Given the description of an element on the screen output the (x, y) to click on. 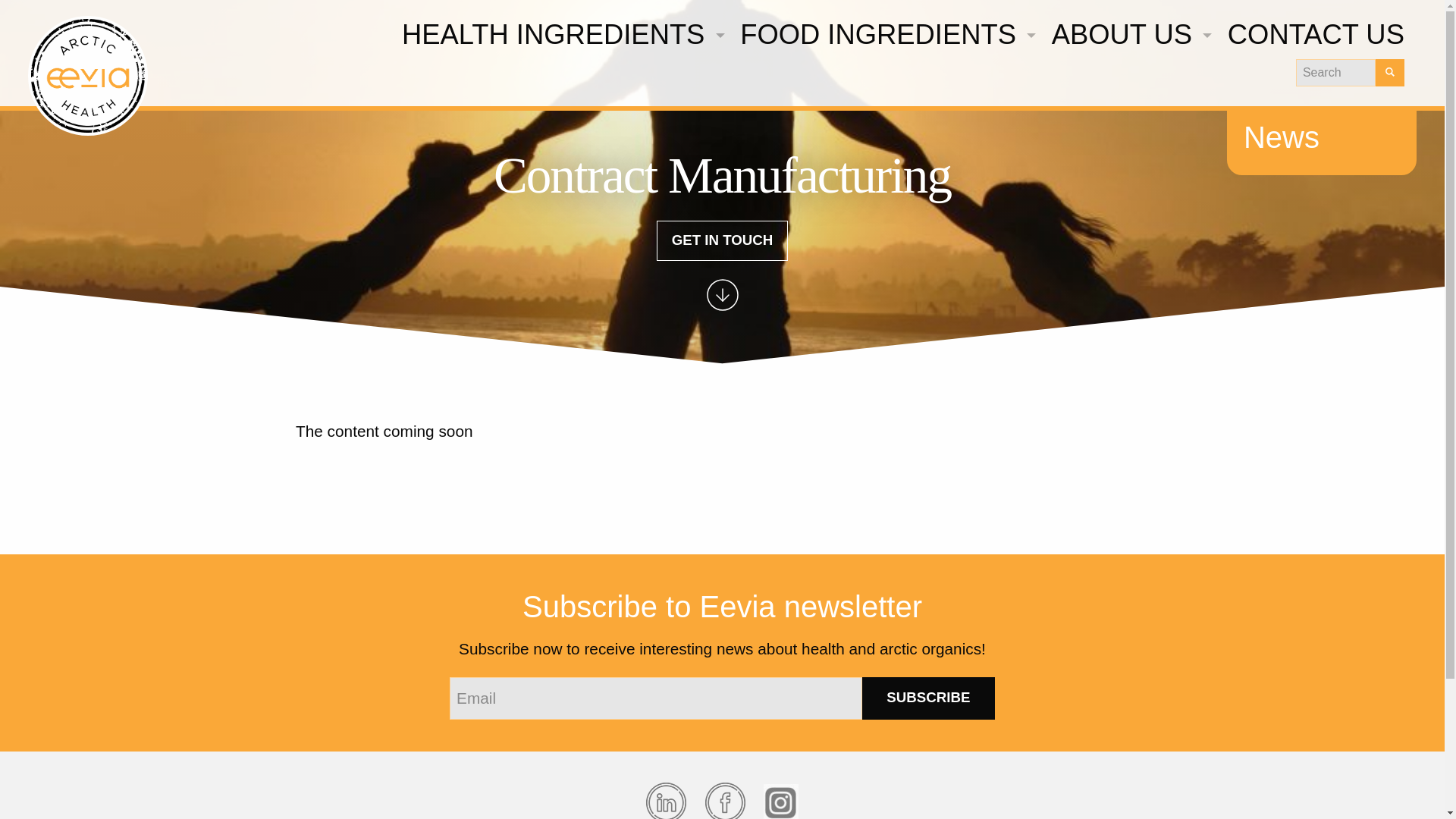
Search (1335, 72)
Search (1390, 72)
HEALTH INGREDIENTS (559, 35)
Eeviahealth (87, 75)
FOOD INGREDIENTS (885, 35)
ABOUT US (1127, 35)
